Given the description of an element on the screen output the (x, y) to click on. 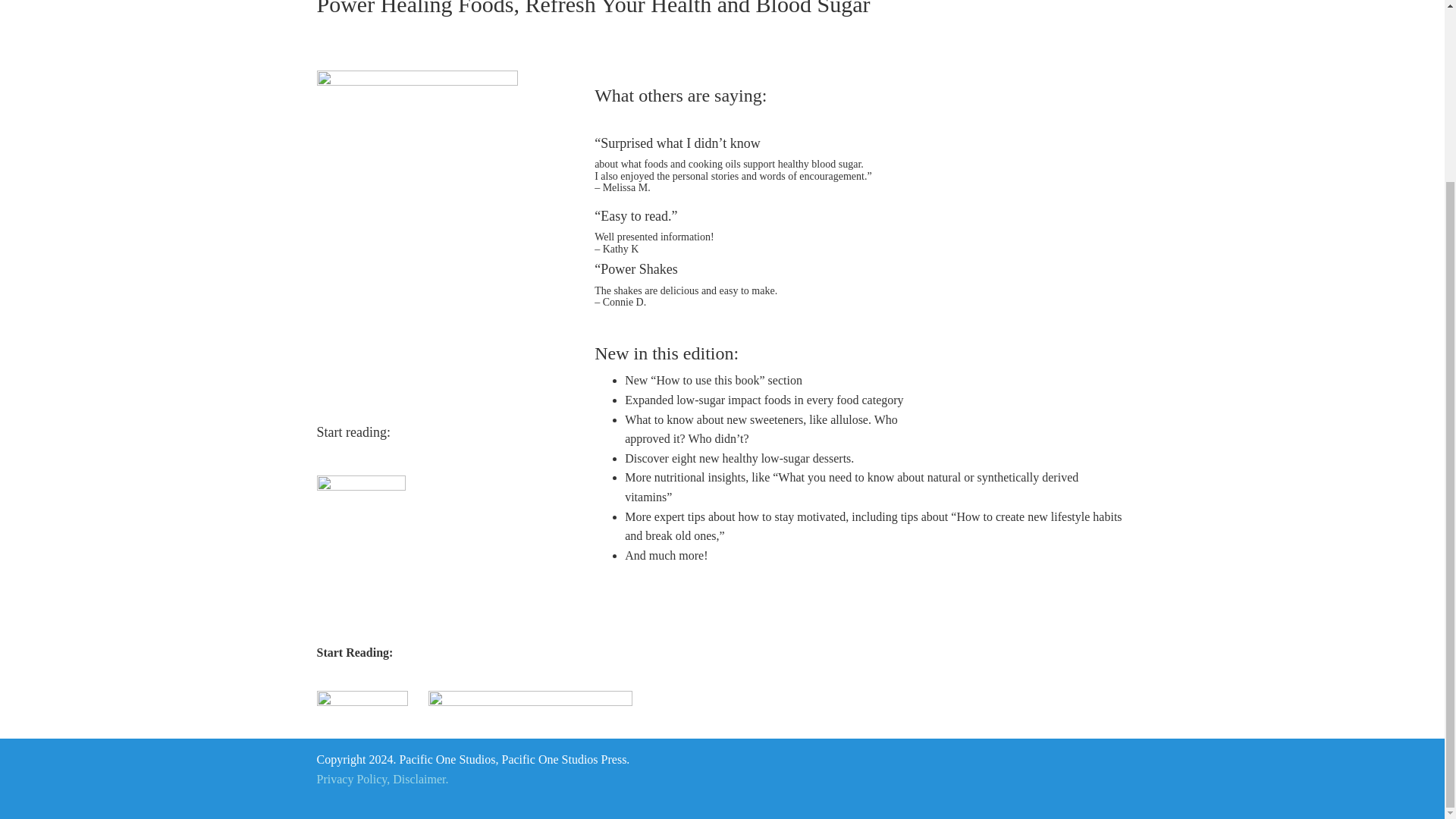
Privacy Policy, Disclaimer. (382, 779)
